Given the description of an element on the screen output the (x, y) to click on. 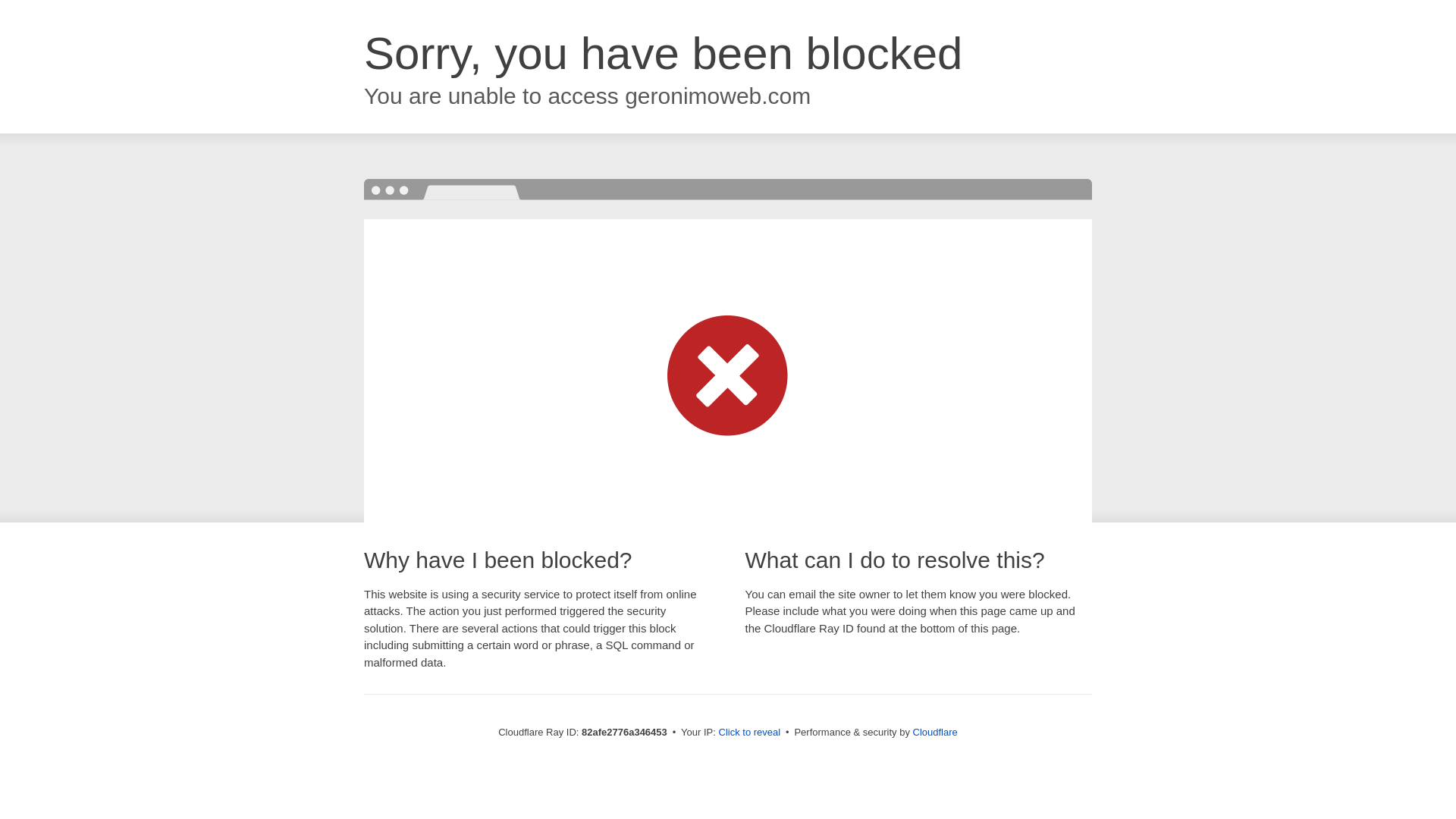
Cloudflare Element type: text (935, 731)
Click to reveal Element type: text (749, 732)
